Given the description of an element on the screen output the (x, y) to click on. 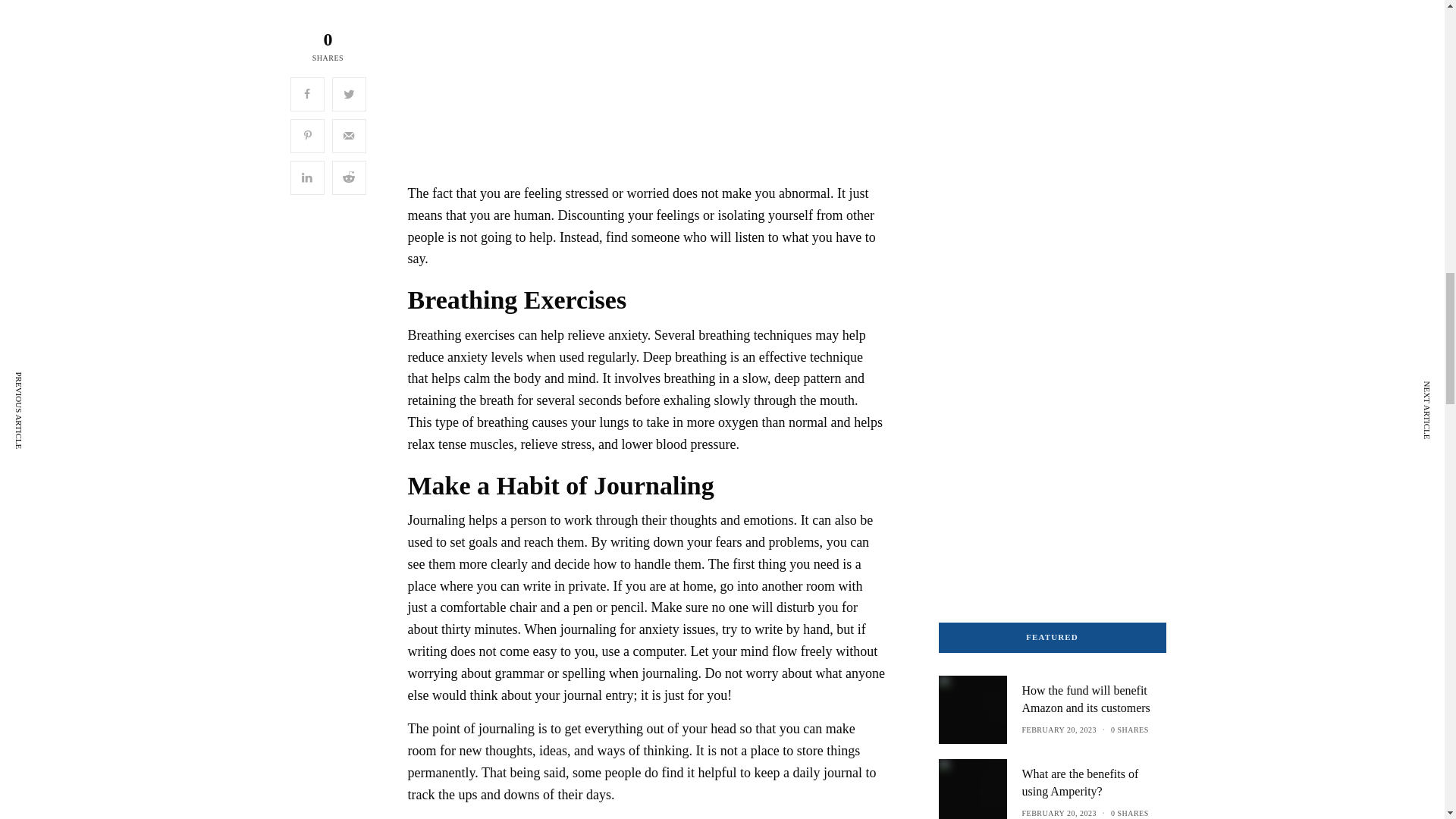
How the fund will benefit Amazon and its customers (1094, 699)
What are the benefits of using Amperity? (1094, 782)
birthday bonus casino uk (1033, 325)
